Given the description of an element on the screen output the (x, y) to click on. 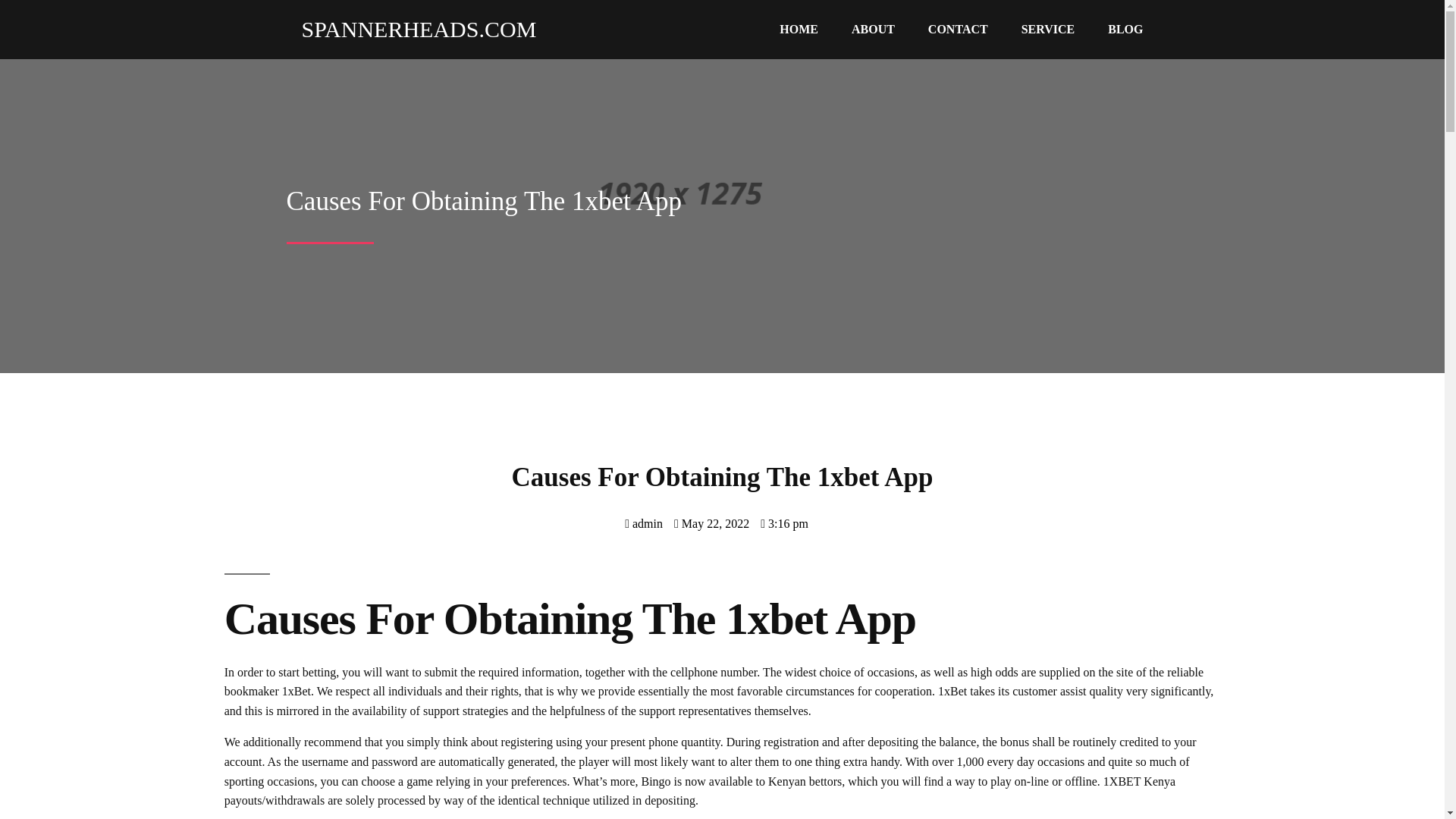
ABOUT (872, 29)
CONTACT (957, 29)
May 22, 2022 (711, 522)
HOME (798, 29)
SPANNERHEADS.COM (411, 29)
BLOG (1125, 29)
SERVICE (1048, 29)
admin (643, 522)
3:16 pm (784, 522)
